Given the description of an element on the screen output the (x, y) to click on. 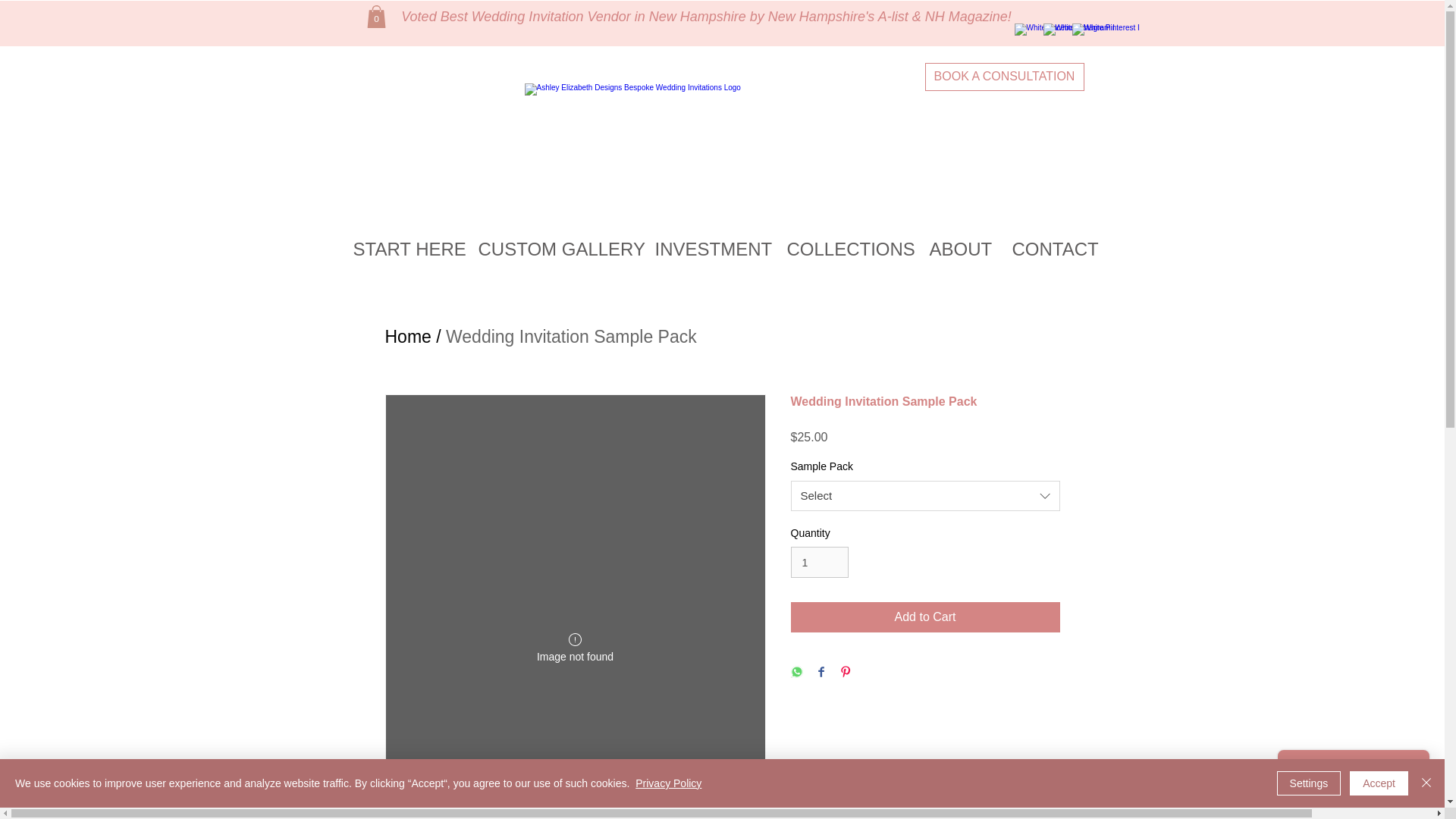
CUSTOM GALLERY (555, 248)
COLLECTIONS (845, 248)
BOOK A CONSULTATION (1004, 76)
INVESTMENT (708, 248)
0 (375, 15)
Wix Chat (1356, 774)
START HERE (402, 248)
1 (818, 562)
ABOUT (958, 248)
0 (375, 15)
